Given the description of an element on the screen output the (x, y) to click on. 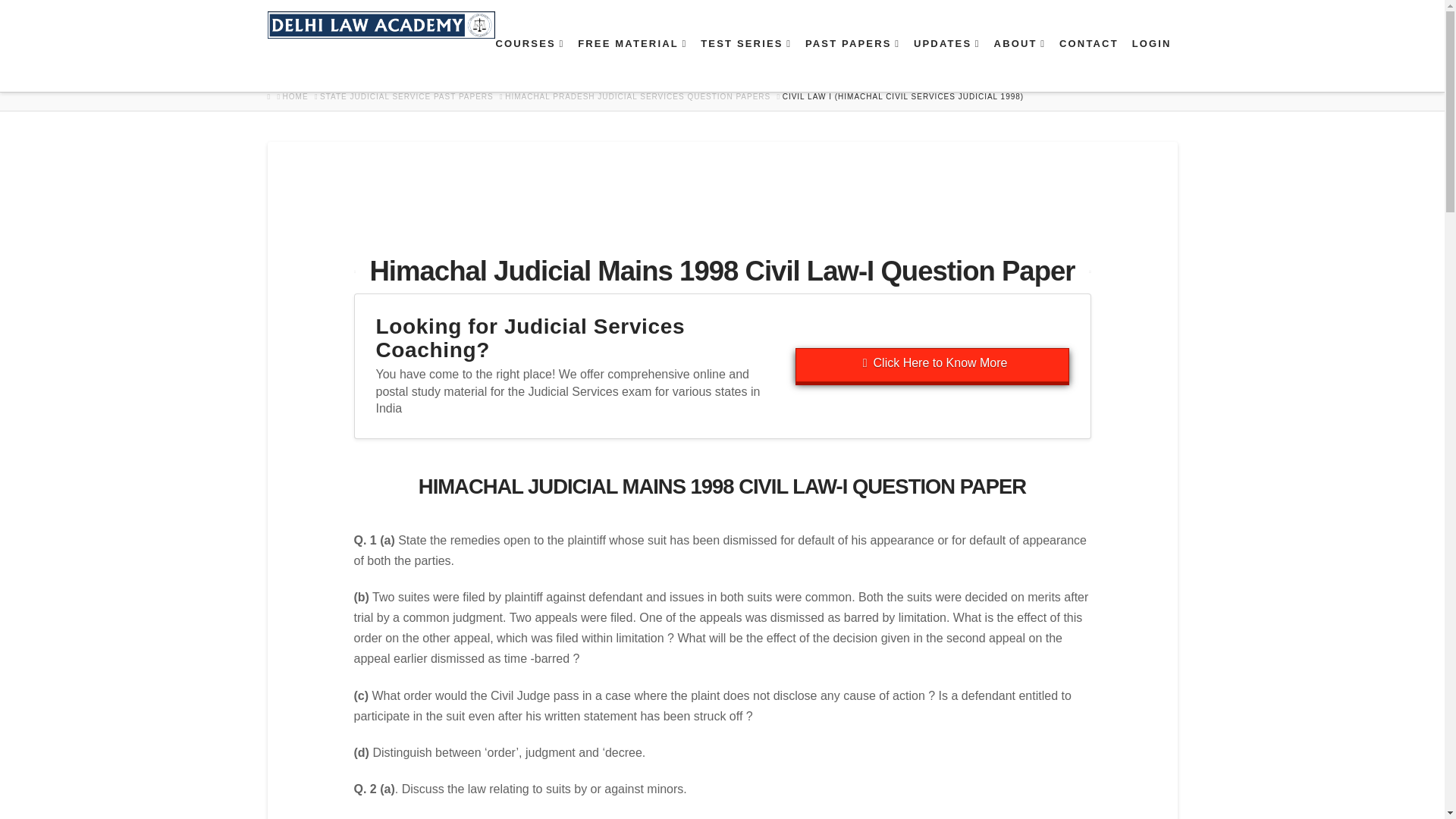
COURSES (528, 64)
FREE MATERIAL (631, 64)
PAST PAPERS (851, 64)
UPDATES (946, 64)
ABOUT (1019, 64)
Online and Postal Coaching for Judicial Services (931, 365)
You Are Here (904, 96)
Online Mock Test Series (745, 64)
TEST SERIES (745, 64)
Online Courses for Law Entrance Exams (528, 64)
